Given the description of an element on the screen output the (x, y) to click on. 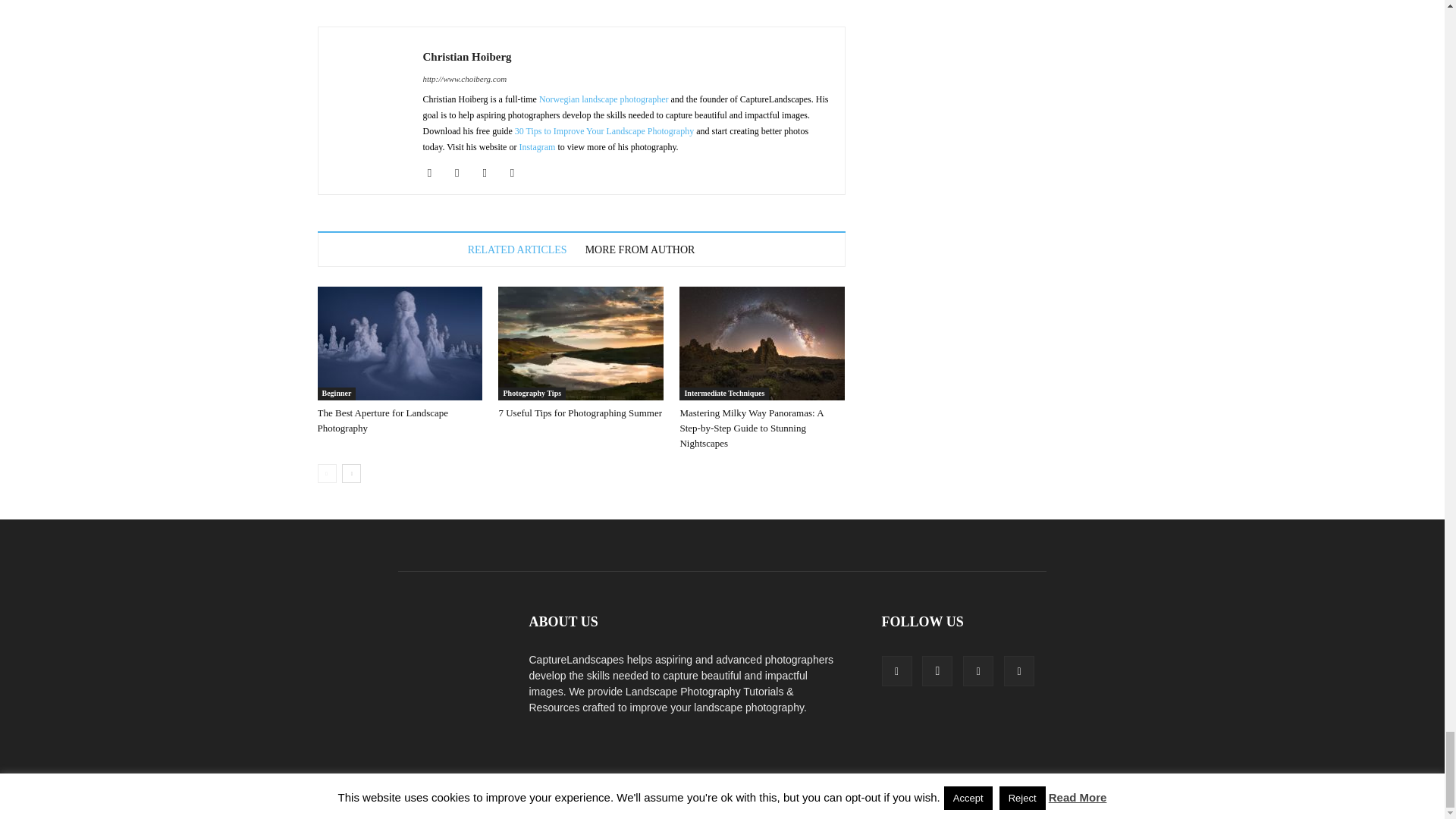
bottomFacebookLike (430, 13)
Facebook (435, 172)
Instagram (462, 172)
Twitter (518, 172)
Mail (489, 172)
